Given the description of an element on the screen output the (x, y) to click on. 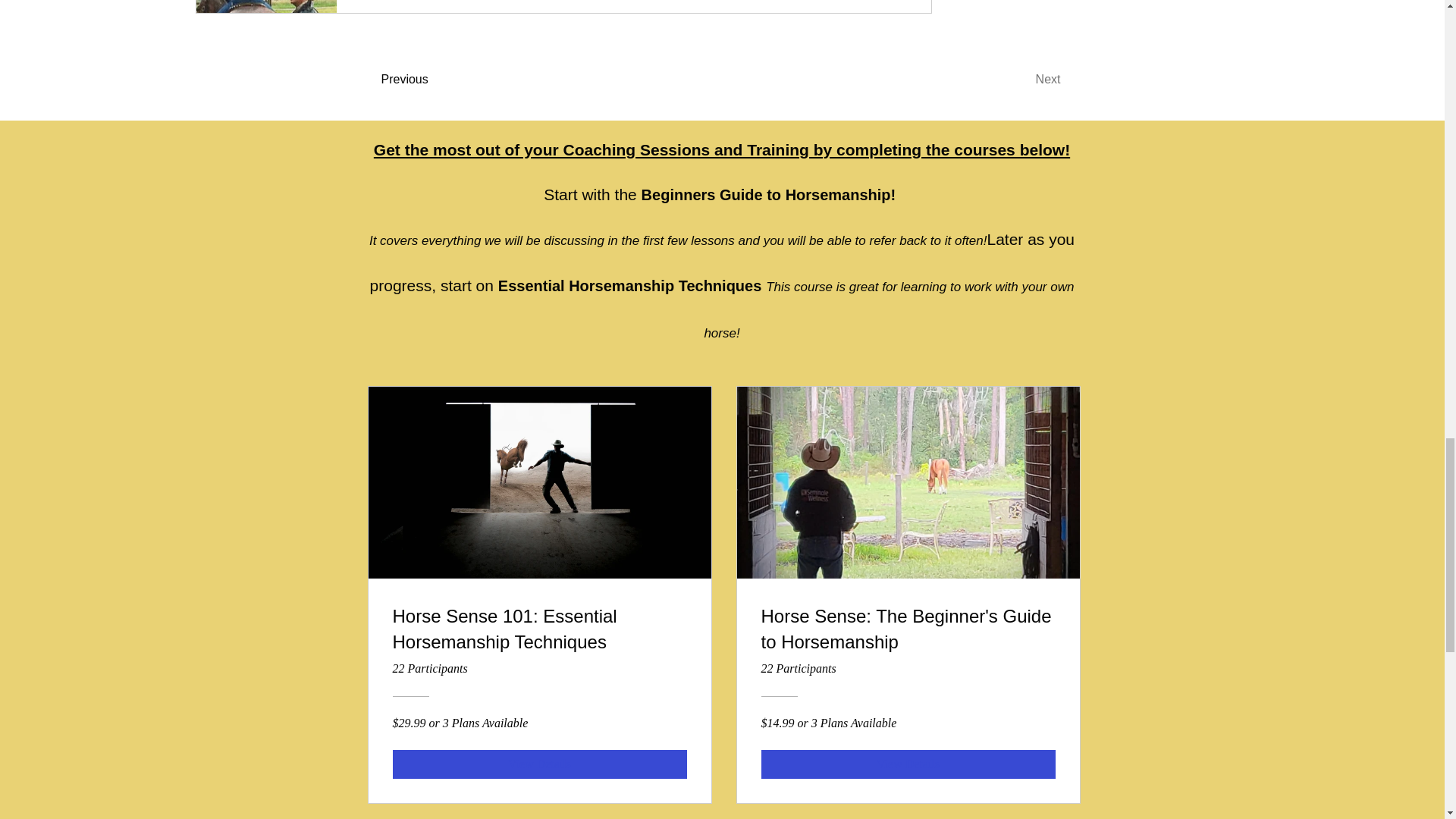
Horse Sense 101: Essential Horsemanship Techniques (540, 631)
Previous (423, 79)
View Details (908, 764)
View Details (540, 764)
Horse Sense: The Beginner's Guide to Horsemanship (908, 631)
Next (1019, 79)
